Given the description of an element on the screen output the (x, y) to click on. 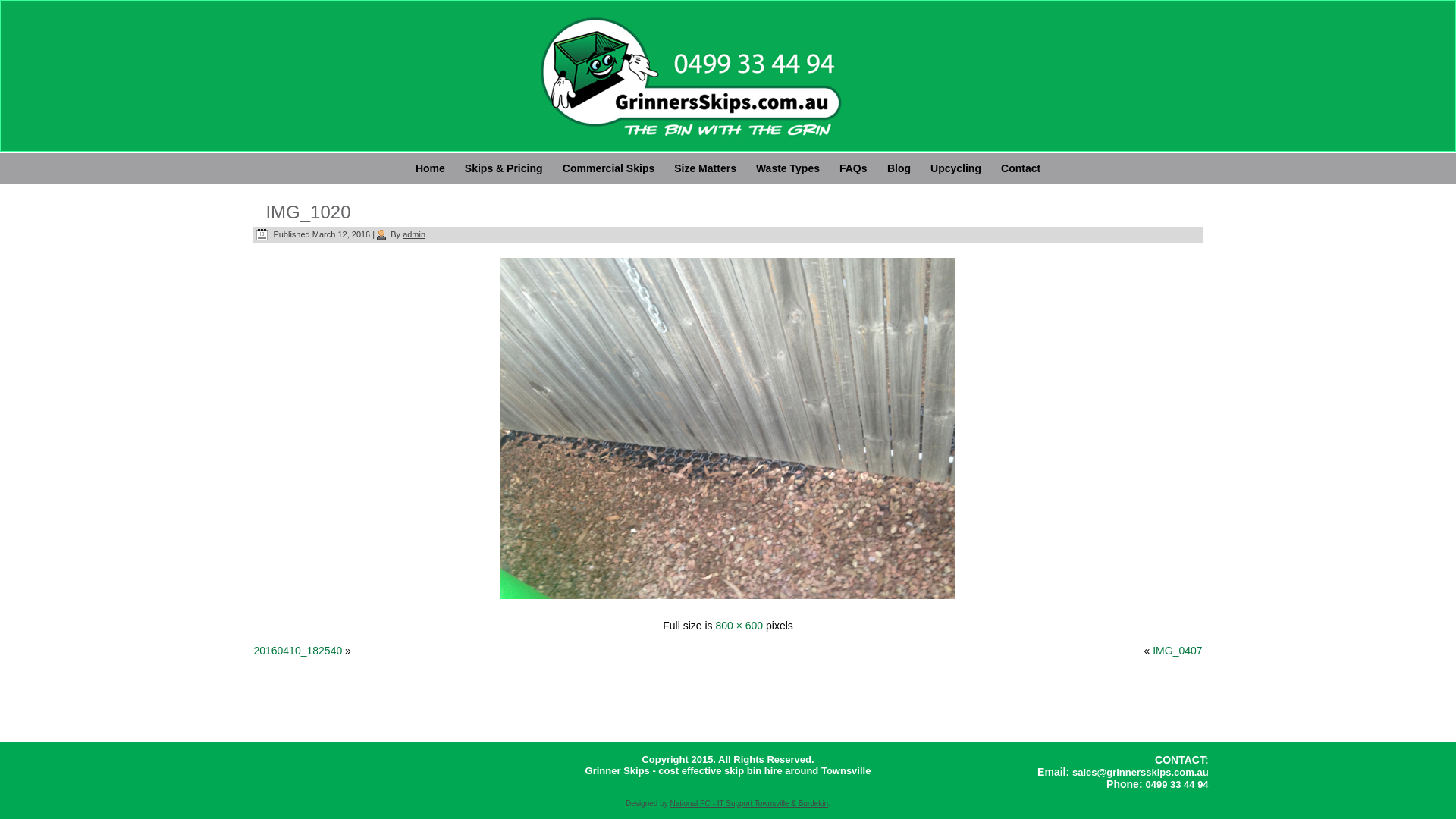
Blog Element type: text (898, 168)
0499 33 44 94 Element type: text (1176, 784)
IMG_1020 Element type: hover (727, 600)
National PC - IT Support Townsville & Burdekin Element type: text (748, 803)
Contact Element type: text (1020, 168)
FAQs Element type: text (853, 168)
Upcycling Element type: text (955, 168)
sales@grinnersskips.com.au Element type: text (1140, 772)
Home Element type: text (430, 168)
Size Matters Element type: text (705, 168)
Commercial Skips Element type: text (608, 168)
20160410_182540 Element type: text (297, 650)
Skips & Pricing Element type: text (503, 168)
Waste Types Element type: text (787, 168)
IMG_0407 Element type: text (1176, 650)
admin Element type: text (413, 233)
IMG_1020 Element type: text (307, 211)
